Given the description of an element on the screen output the (x, y) to click on. 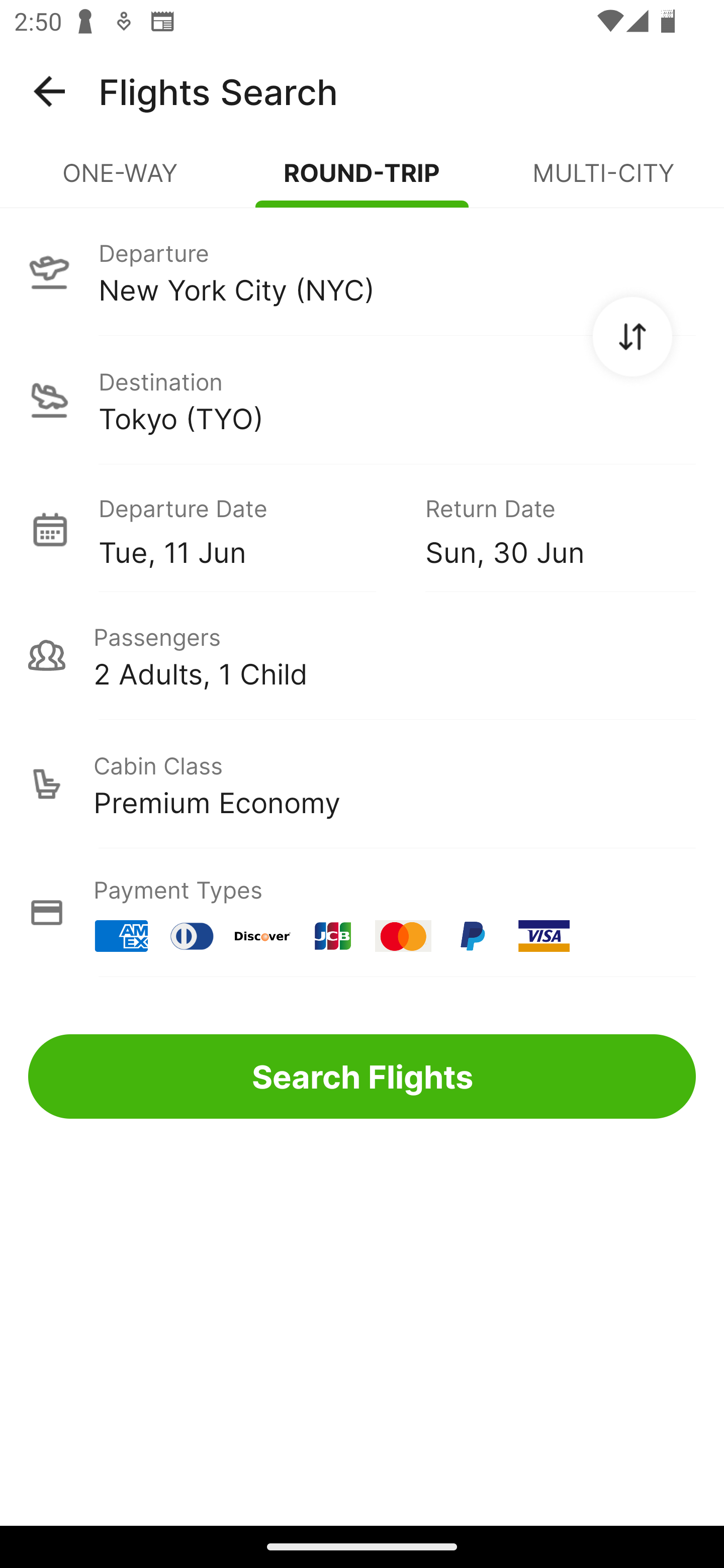
ONE-WAY (120, 180)
ROUND-TRIP (361, 180)
MULTI-CITY (603, 180)
Departure New York City (NYC) (362, 270)
Destination Tokyo (TYO) (362, 400)
Departure Date Tue, 11 Jun (247, 528)
Return Date Sun, 30 Jun (546, 528)
Passengers 2 Adults, 1 Child (362, 655)
Cabin Class Premium Economy (362, 783)
Payment Types (362, 912)
Search Flights (361, 1075)
